Given the description of an element on the screen output the (x, y) to click on. 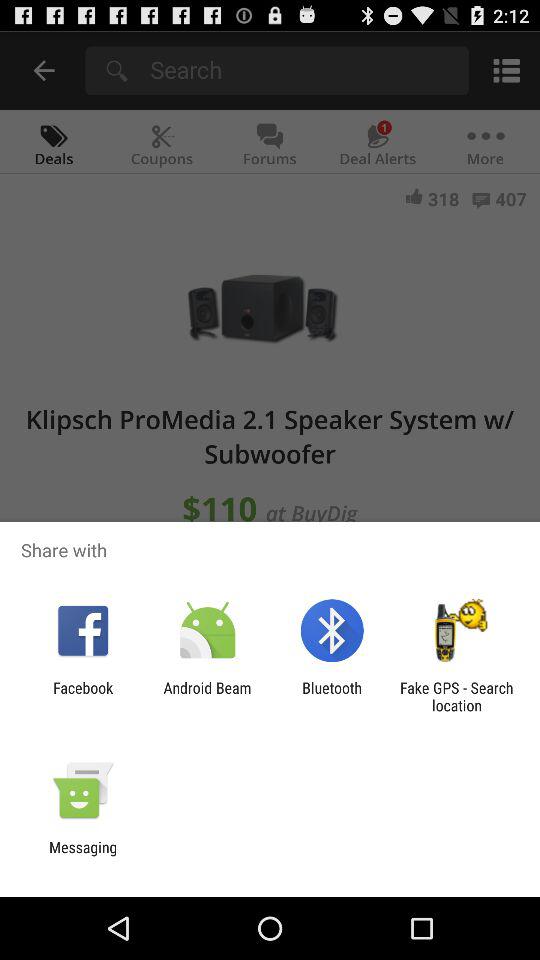
choose app to the left of the bluetooth app (207, 696)
